Given the description of an element on the screen output the (x, y) to click on. 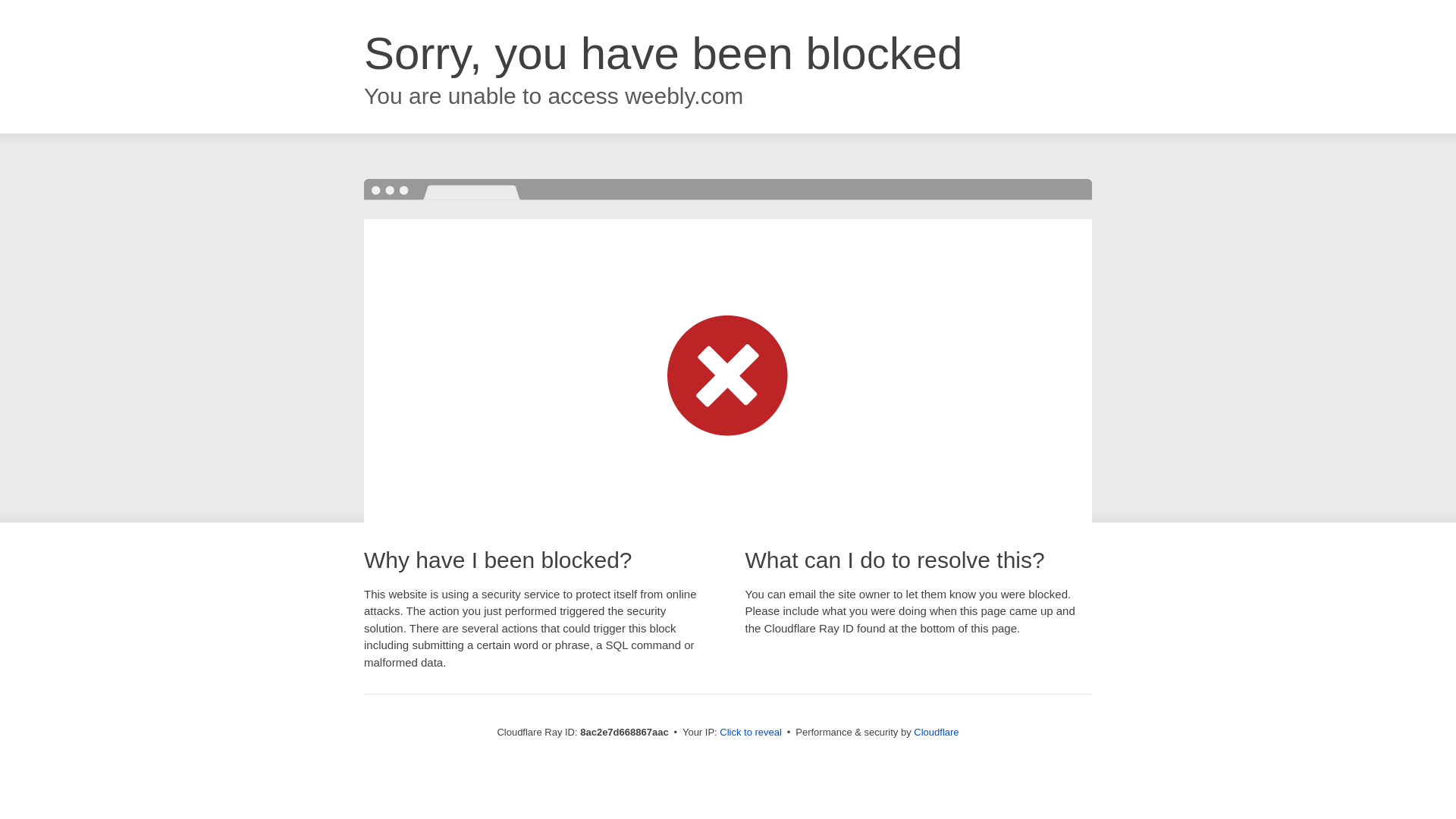
Click to reveal (750, 732)
Cloudflare (936, 731)
